Given the description of an element on the screen output the (x, y) to click on. 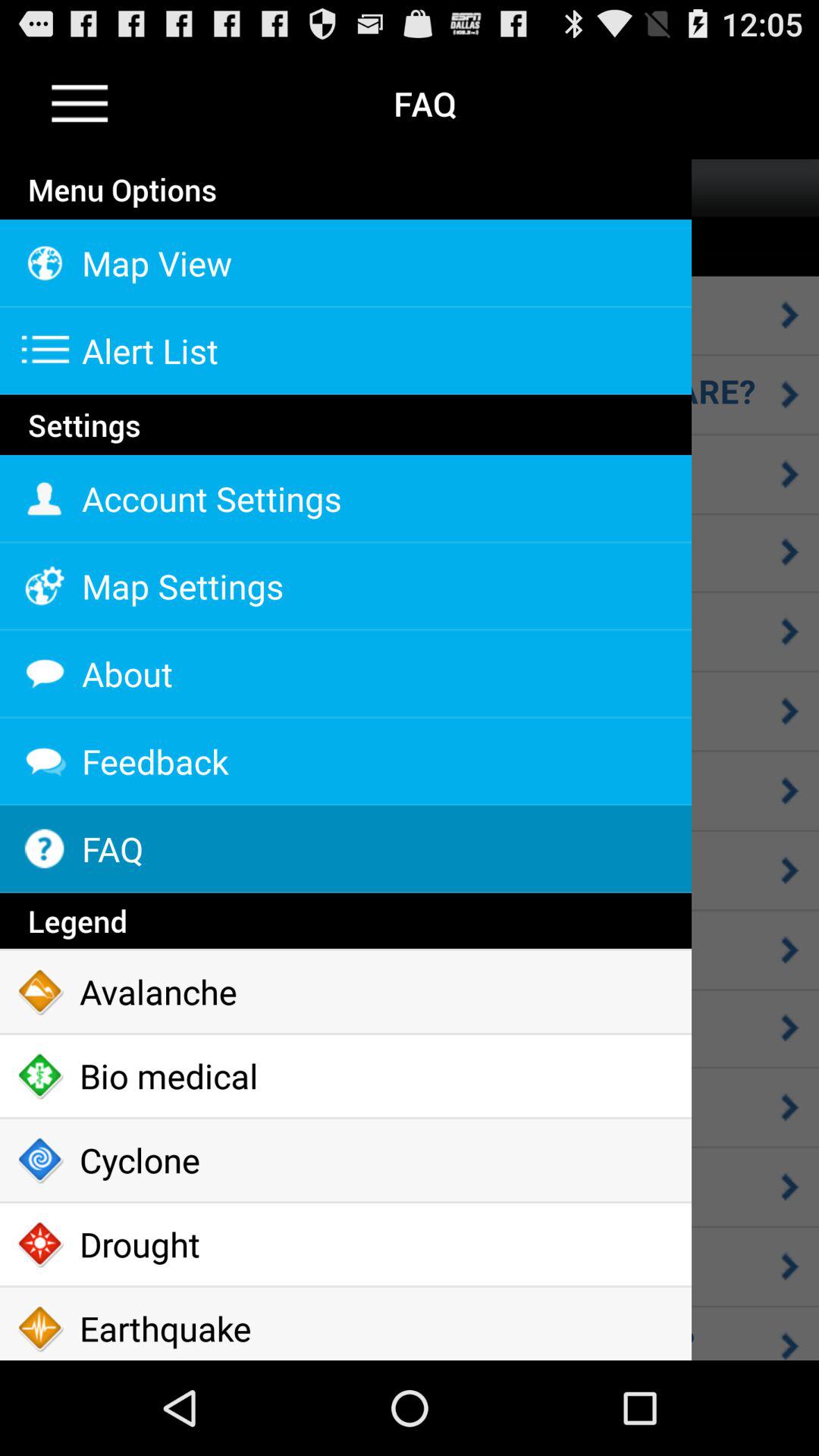
tap the icon below avalanche icon (345, 1076)
